Given the description of an element on the screen output the (x, y) to click on. 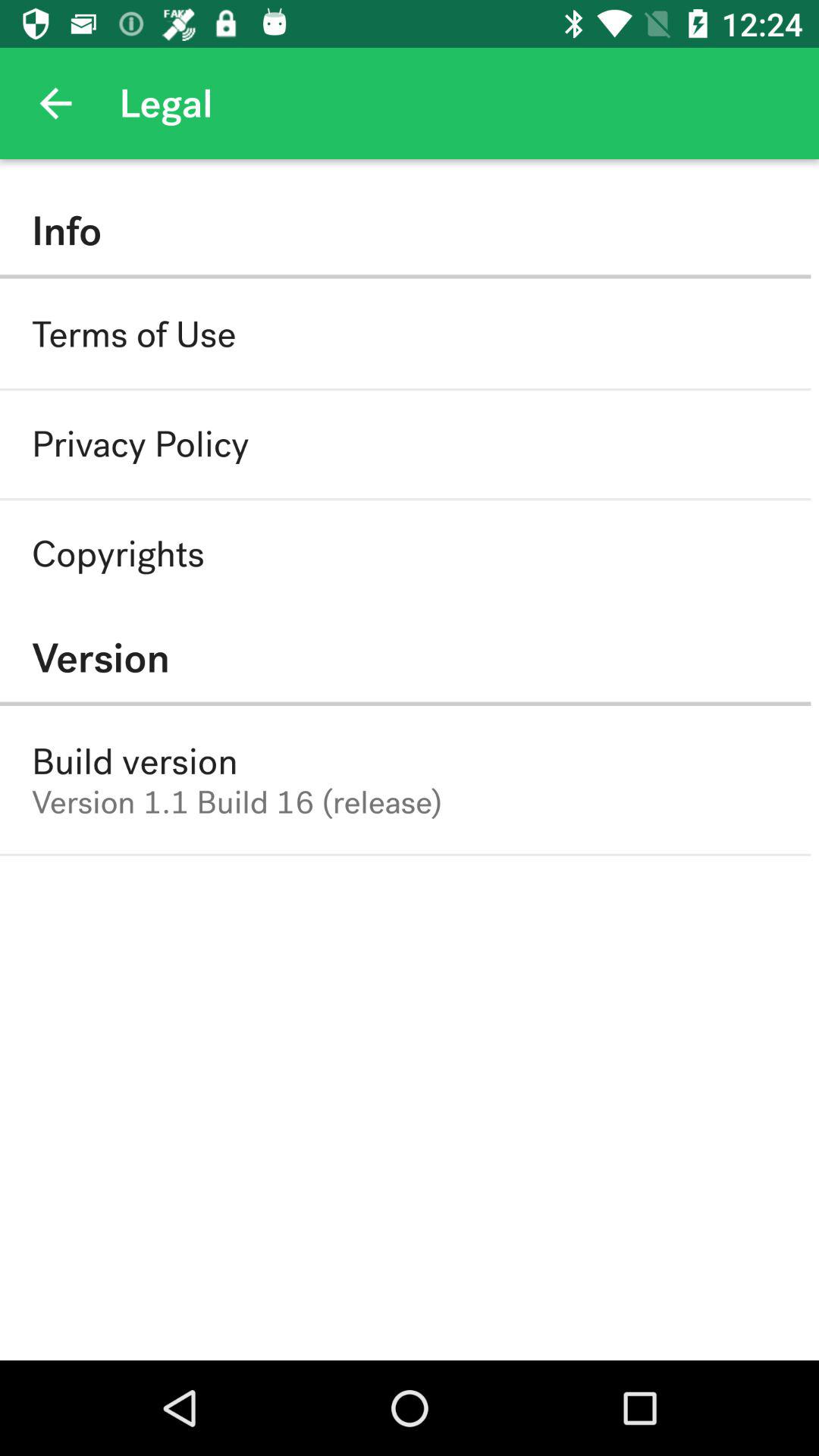
press privacy policy (140, 444)
